Given the description of an element on the screen output the (x, y) to click on. 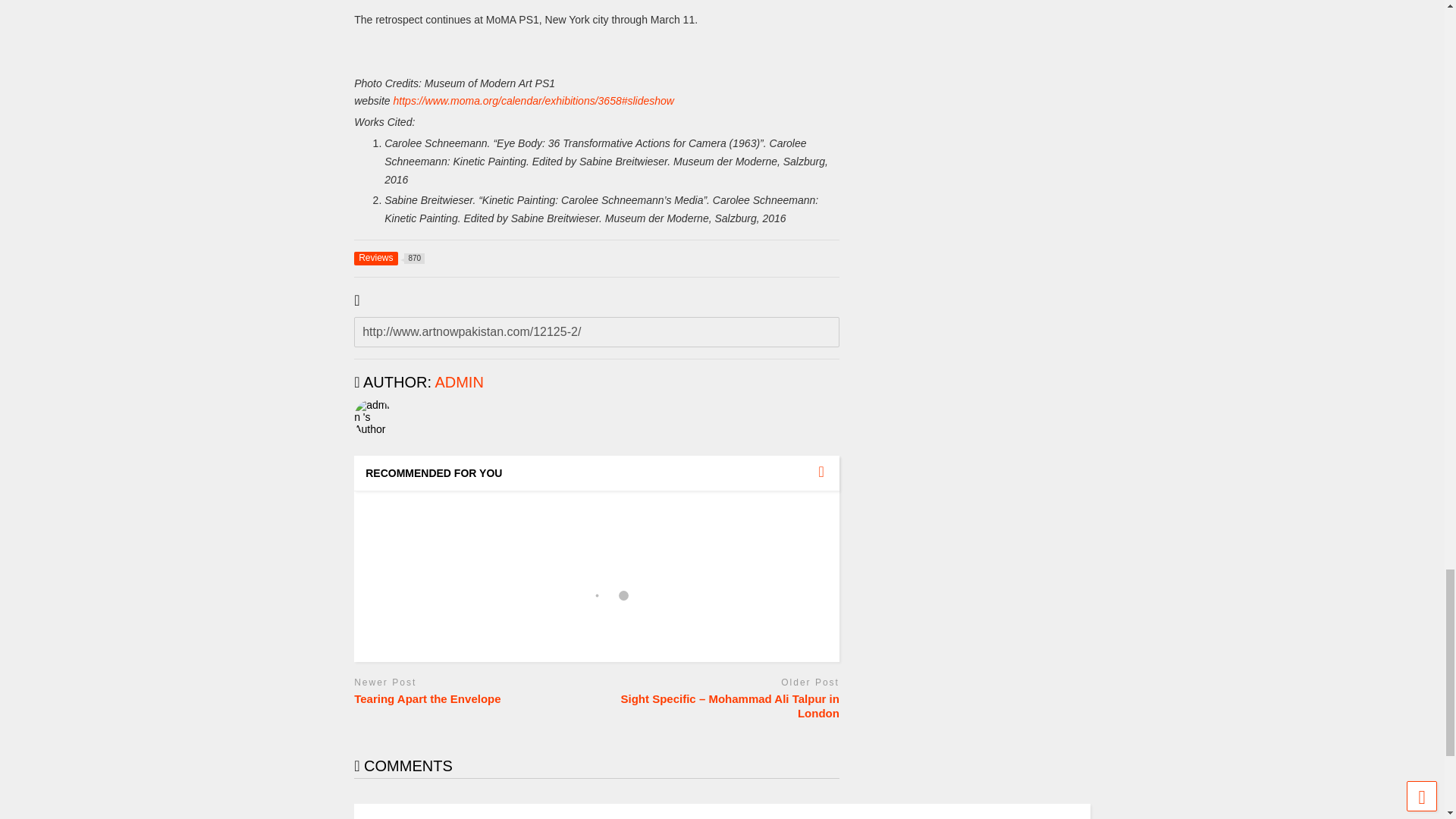
author profile (458, 381)
ADMIN (458, 381)
